Given the description of an element on the screen output the (x, y) to click on. 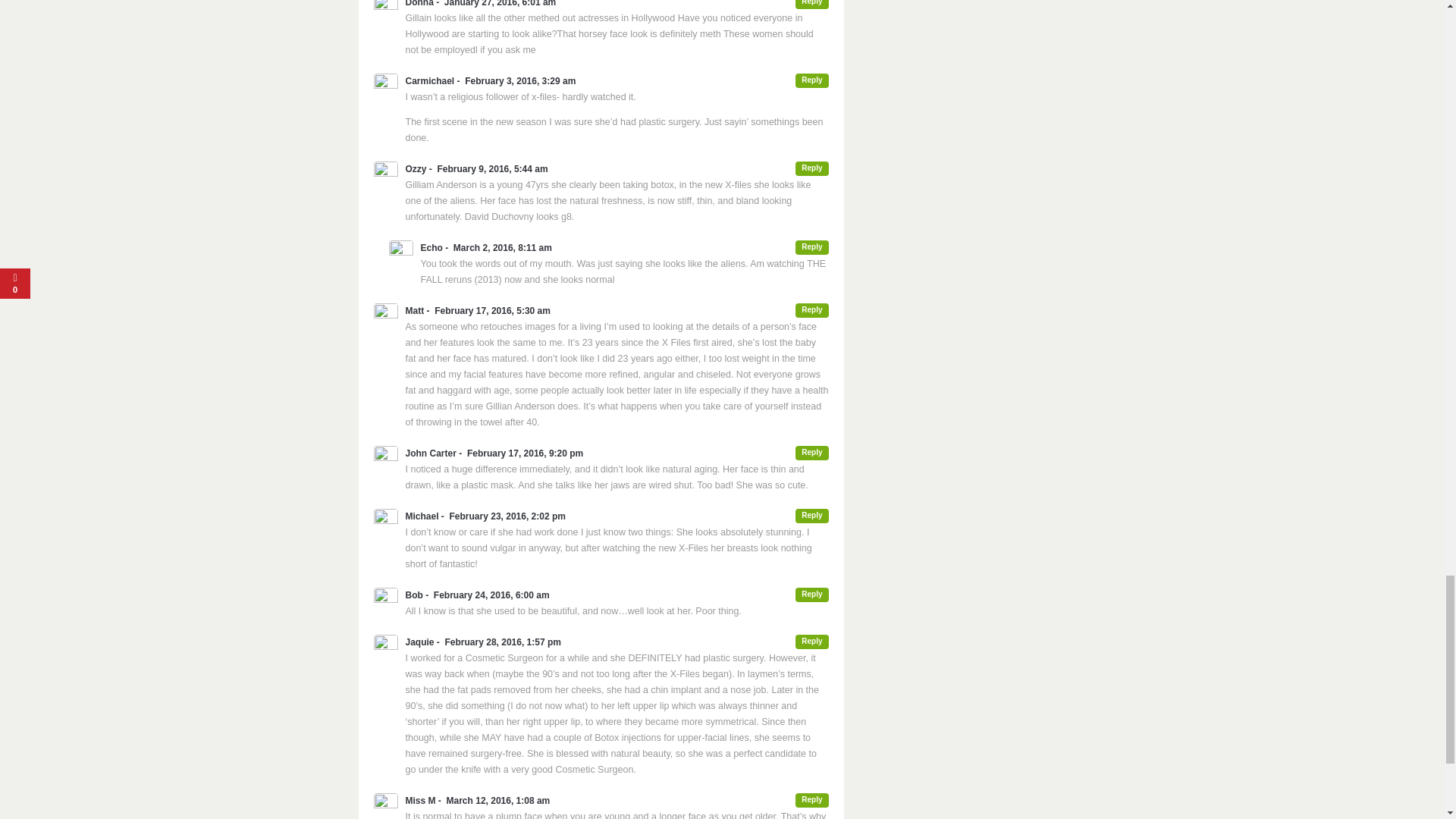
Reply (811, 4)
Reply (811, 515)
Reply (811, 800)
Reply (811, 594)
Reply (811, 80)
Reply (811, 168)
Reply (811, 310)
Reply (811, 247)
Reply (811, 641)
Reply (811, 452)
